Given the description of an element on the screen output the (x, y) to click on. 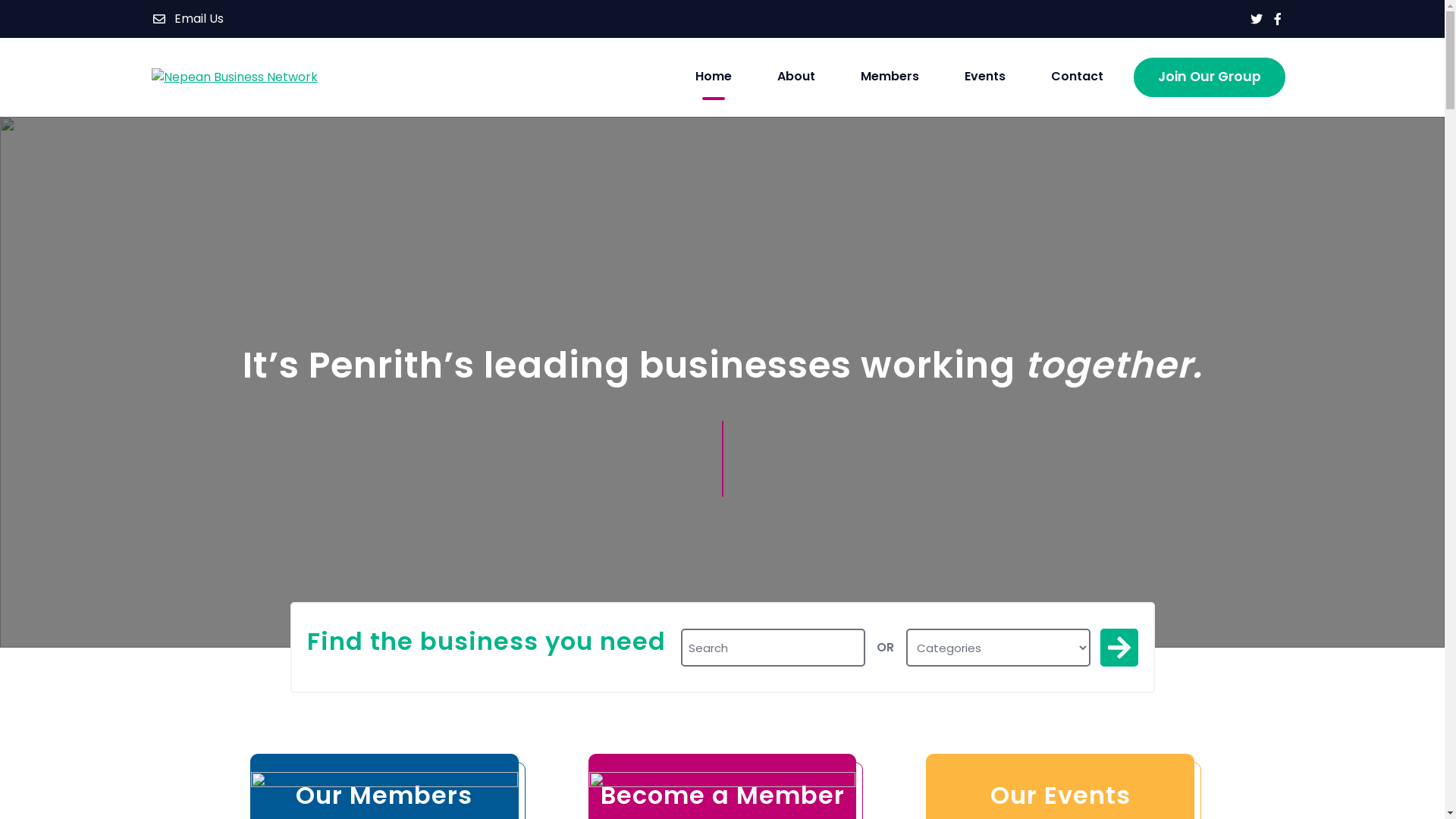
Email Us Element type: text (187, 18)
Contact Element type: text (1076, 77)
About Element type: text (796, 77)
Events Element type: text (984, 77)
Members Element type: text (889, 77)
Join Our Group Element type: text (1209, 77)
Home Element type: text (713, 77)
